Given the description of an element on the screen output the (x, y) to click on. 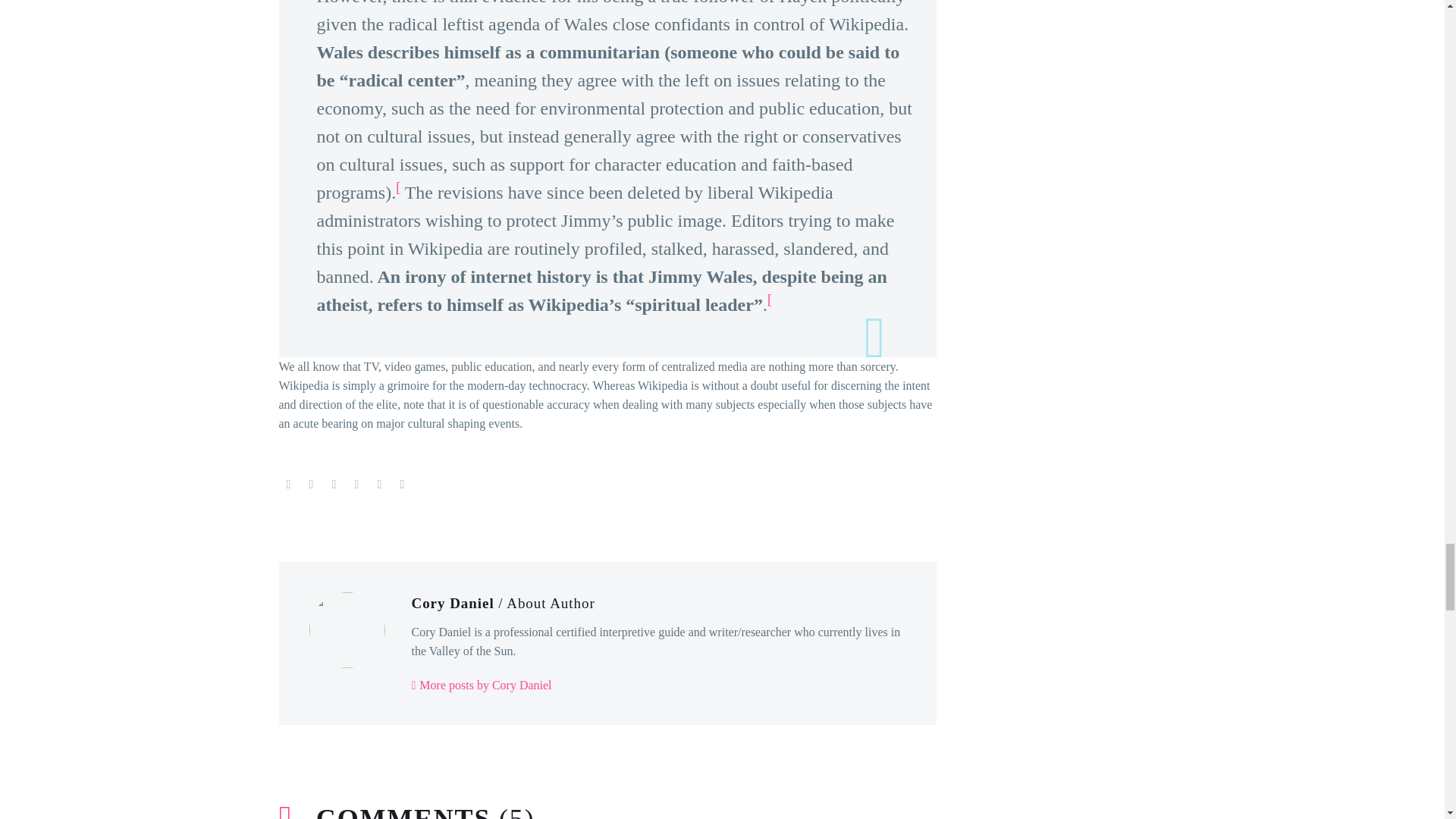
Pinterest (333, 484)
Tumblr (356, 484)
Twitter (310, 484)
Facebook (288, 484)
